Given the description of an element on the screen output the (x, y) to click on. 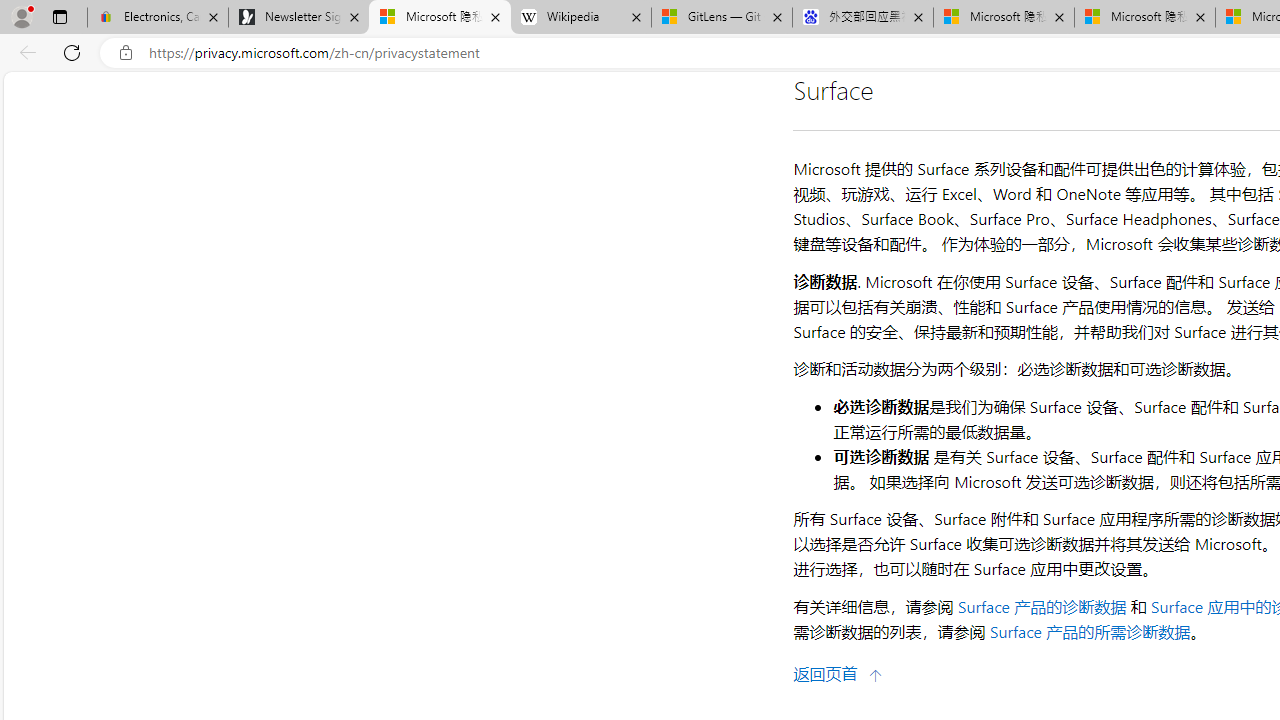
Electronics, Cars, Fashion, Collectibles & More | eBay (157, 17)
Wikipedia (580, 17)
Newsletter Sign Up (298, 17)
